Given the description of an element on the screen output the (x, y) to click on. 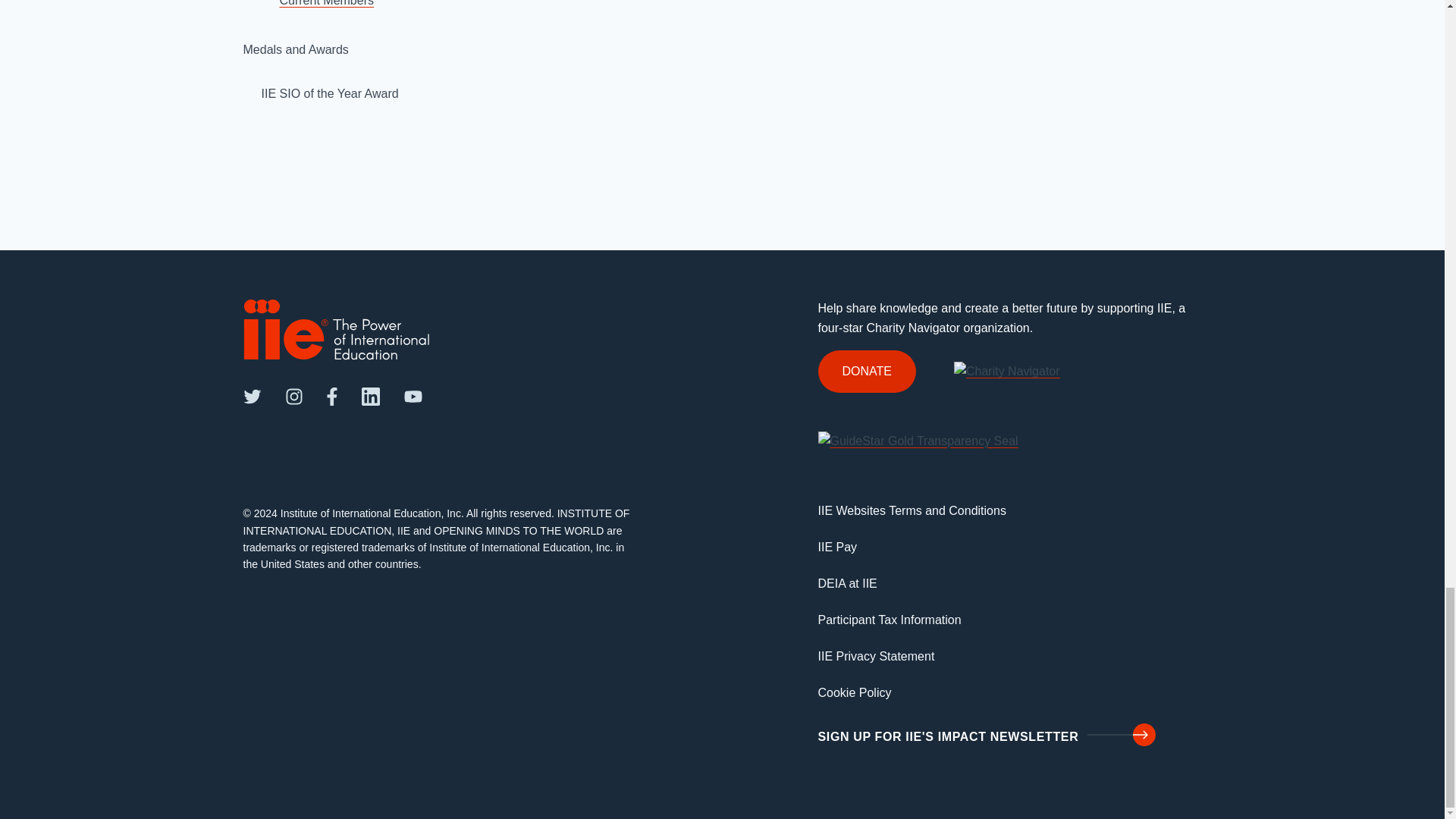
View IIE on GuideStar (916, 440)
View IIE on the Charity Navigator (1006, 369)
